Given the description of an element on the screen output the (x, y) to click on. 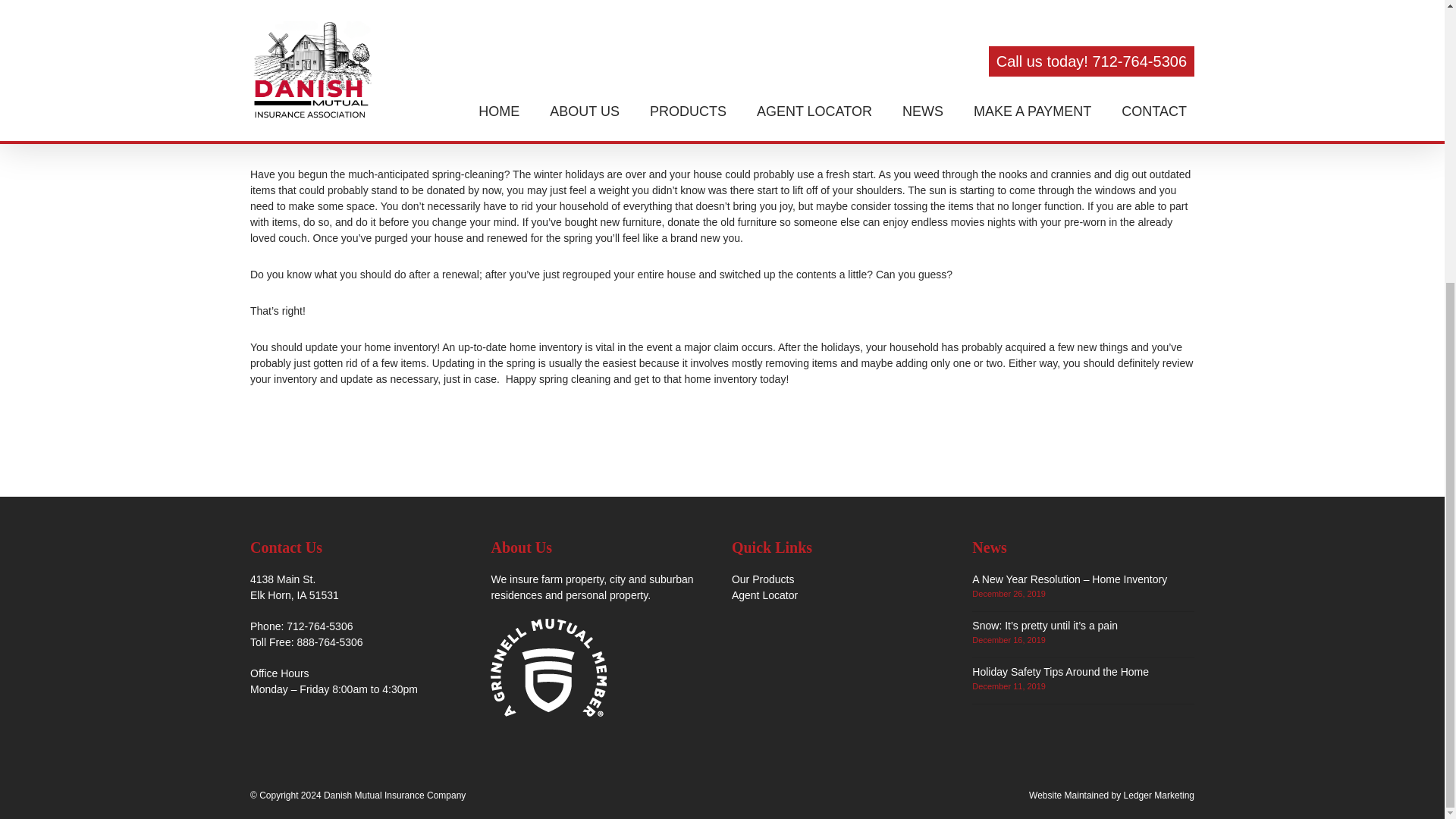
Ledger Marketing (1158, 795)
Agent Locator (764, 594)
Holiday Safety Tips Around the Home (1060, 671)
Our Products (762, 579)
